Given the description of an element on the screen output the (x, y) to click on. 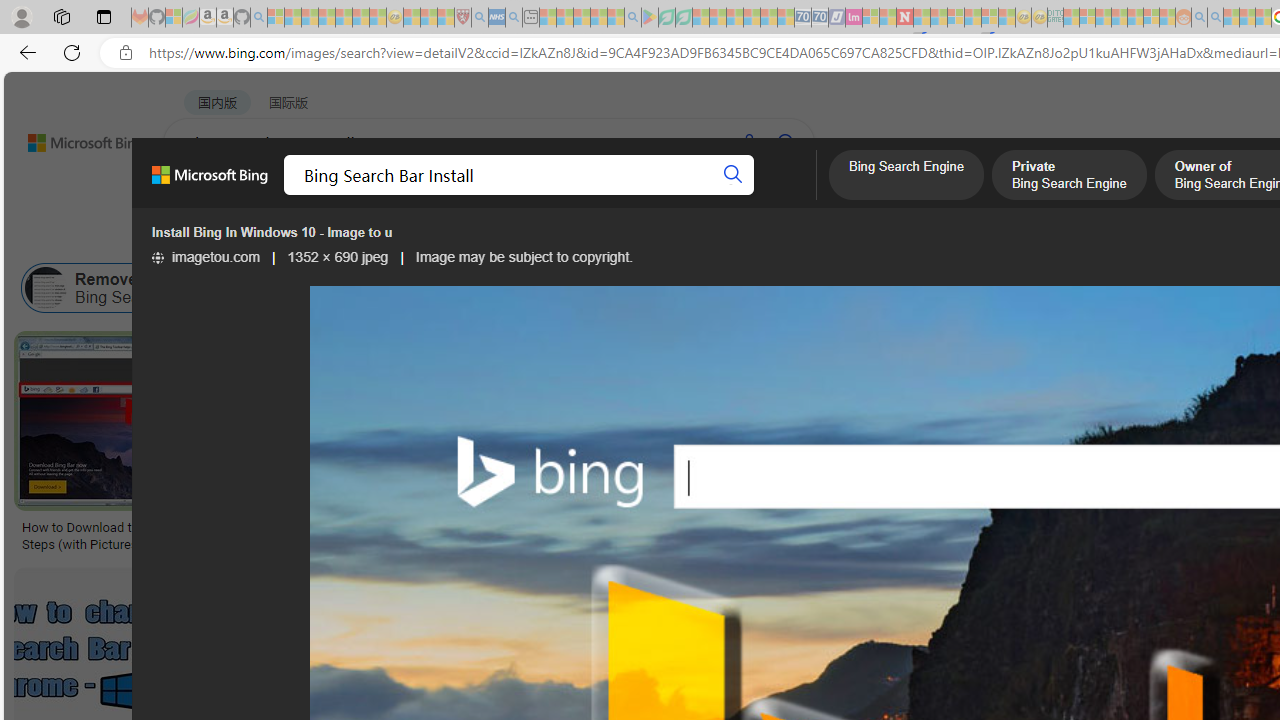
Bing Desktop Search Bar (408, 287)
Install Bing Search Engine (955, 287)
Remove Bing Search Bar (45, 287)
Color (305, 237)
Jobs - lastminute.com Investor Portal - Sleeping (853, 17)
Private Bing Search Engine (1068, 177)
Image result for Bing Search Bar Install (974, 421)
